Given the description of an element on the screen output the (x, y) to click on. 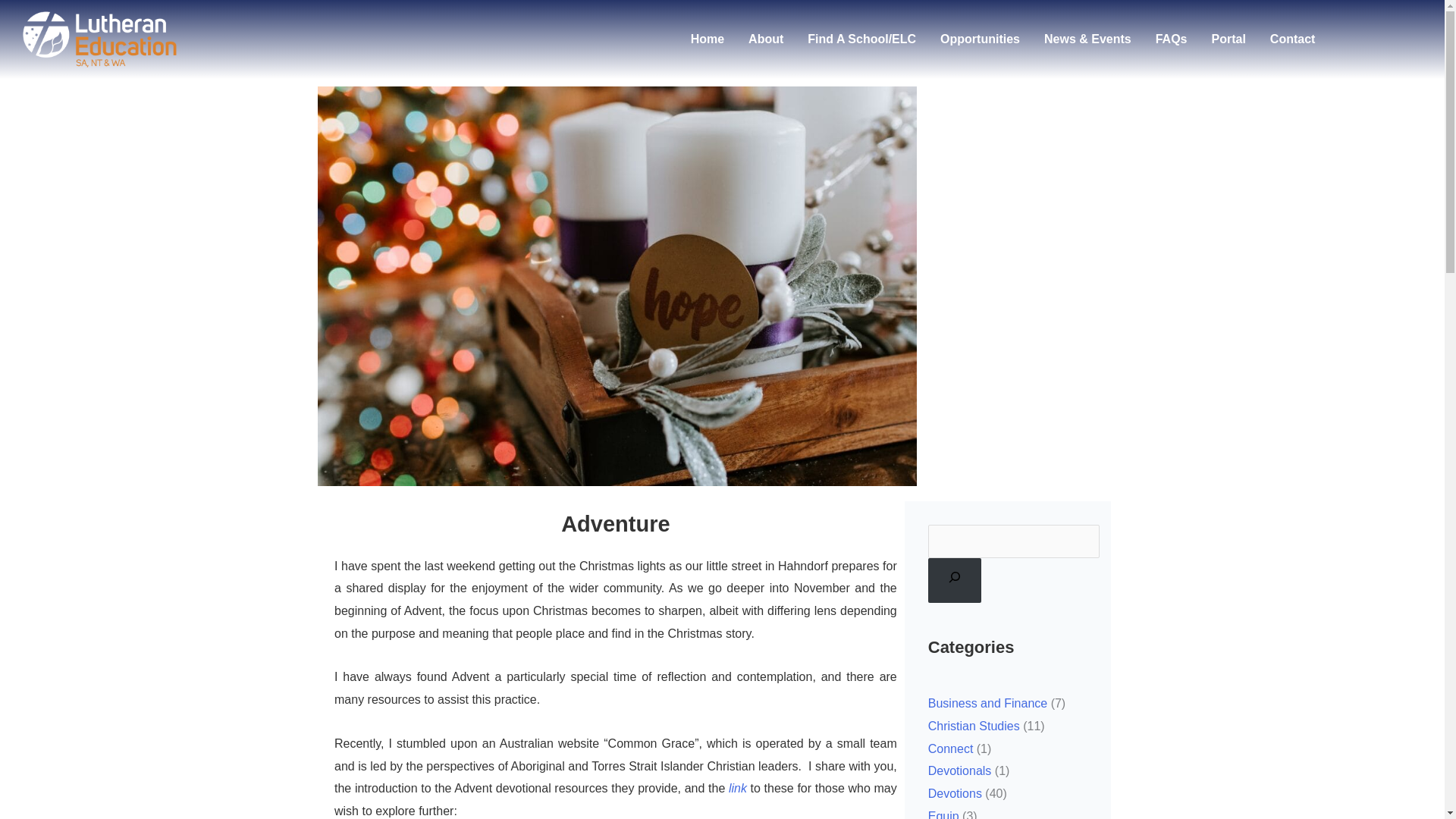
Portal (1228, 39)
Contact (1292, 39)
Opportunities (980, 39)
Home (707, 39)
FAQs (1170, 39)
About (765, 39)
